Given the description of an element on the screen output the (x, y) to click on. 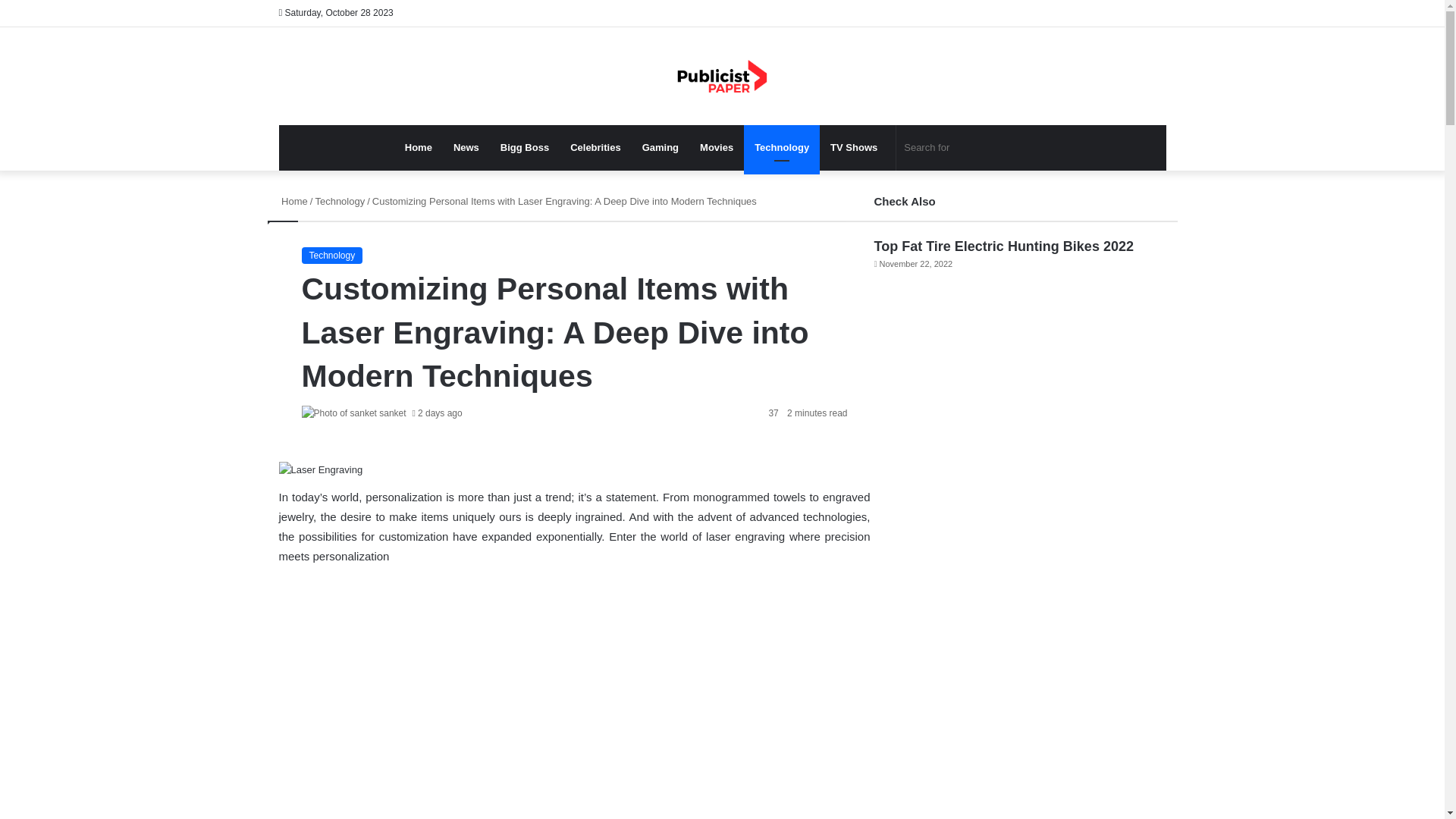
sanket (392, 412)
Technology (331, 255)
Home (293, 201)
Movies (716, 147)
sanket (392, 412)
Celebrities (594, 147)
TV Shows (853, 147)
Search for (972, 147)
Publicist Paper (721, 76)
Technology (339, 201)
Home (418, 147)
Technology (781, 147)
Gaming (659, 147)
Bigg Boss (524, 147)
News (465, 147)
